Given the description of an element on the screen output the (x, y) to click on. 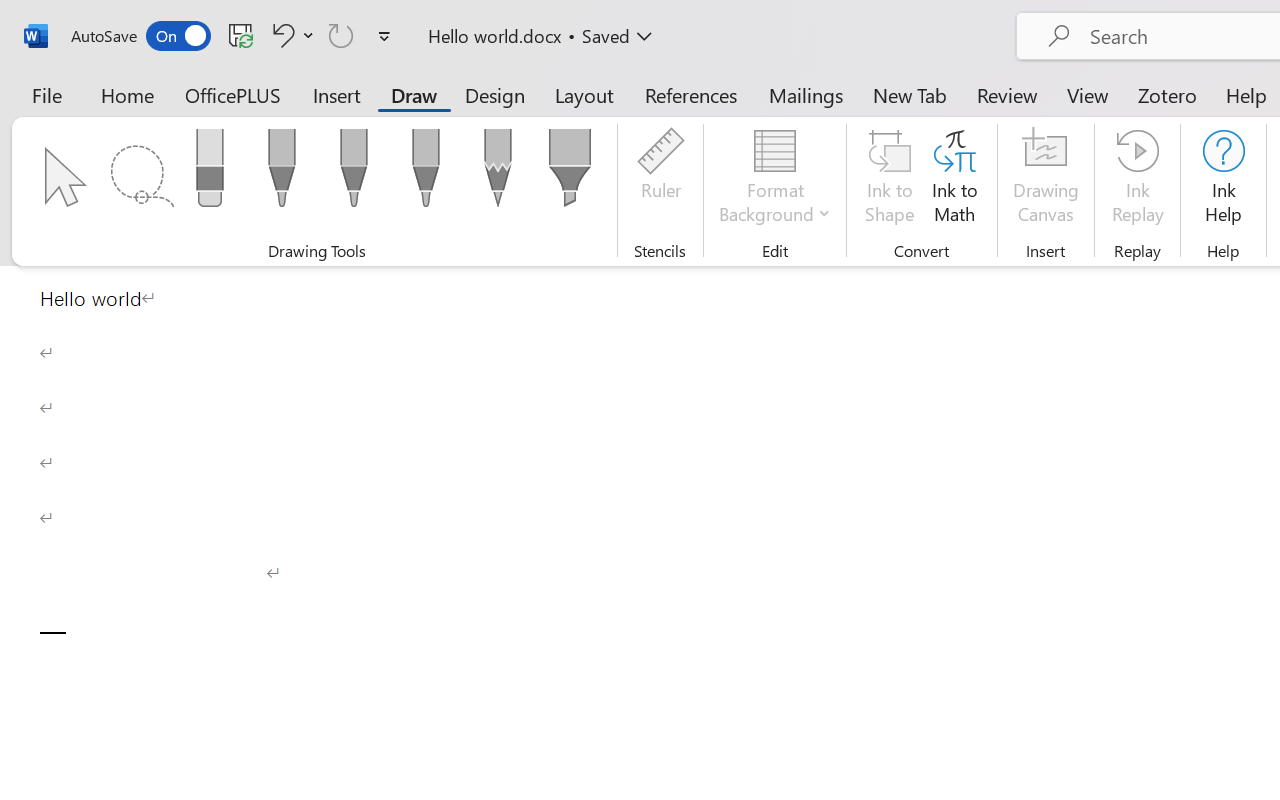
Draw (413, 94)
Ruler (660, 179)
References (690, 94)
Highlighter: Yellow, 6 mm (569, 173)
OfficePLUS (233, 94)
Ink to Shape (889, 179)
Design (495, 94)
Can't Repeat (341, 35)
Undo Paragraph Formatting (280, 35)
View (1087, 94)
Customize Quick Access Toolbar (384, 35)
Ink Replay (1137, 179)
